Given the description of an element on the screen output the (x, y) to click on. 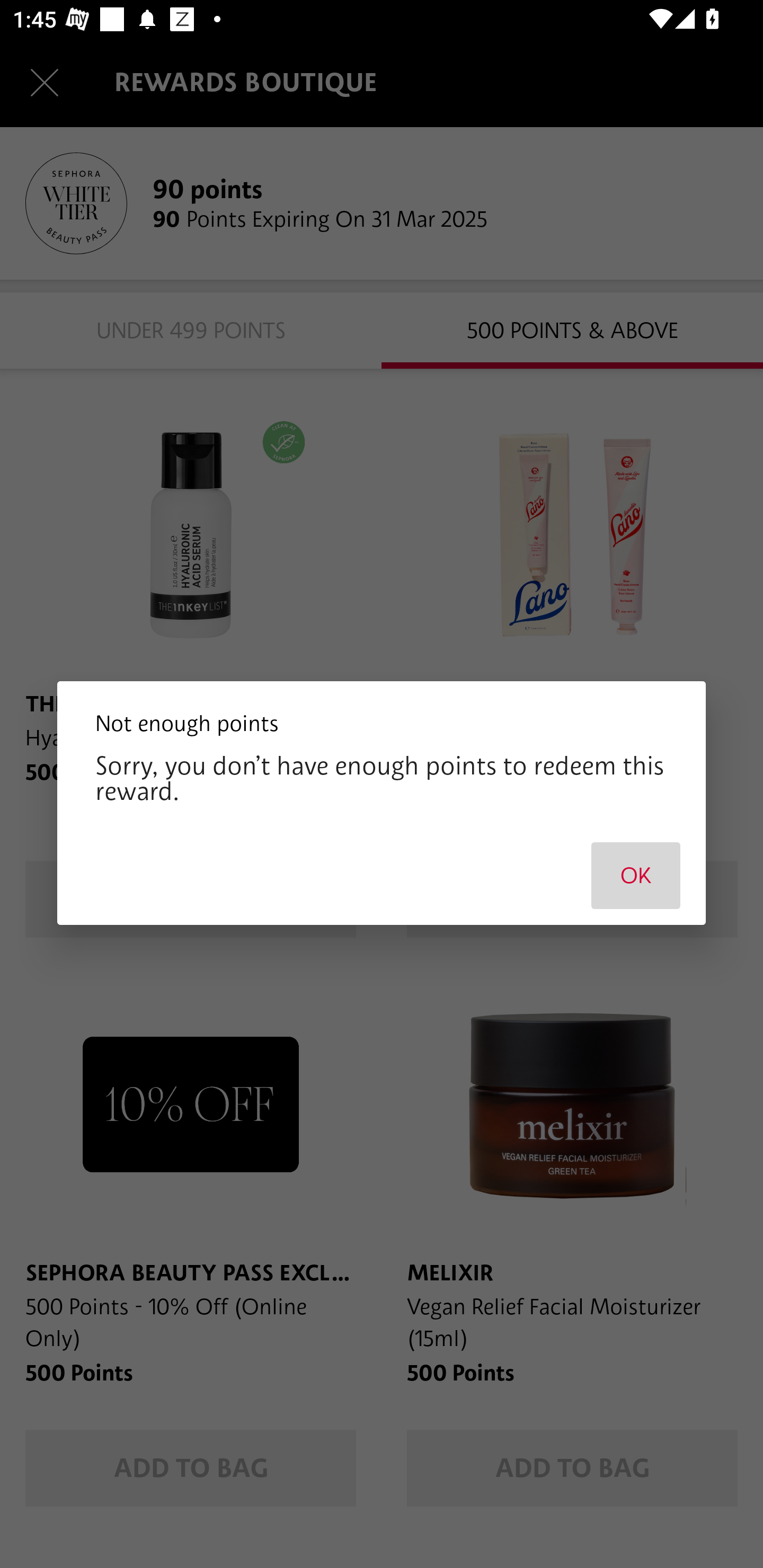
OK (635, 875)
